Given the description of an element on the screen output the (x, y) to click on. 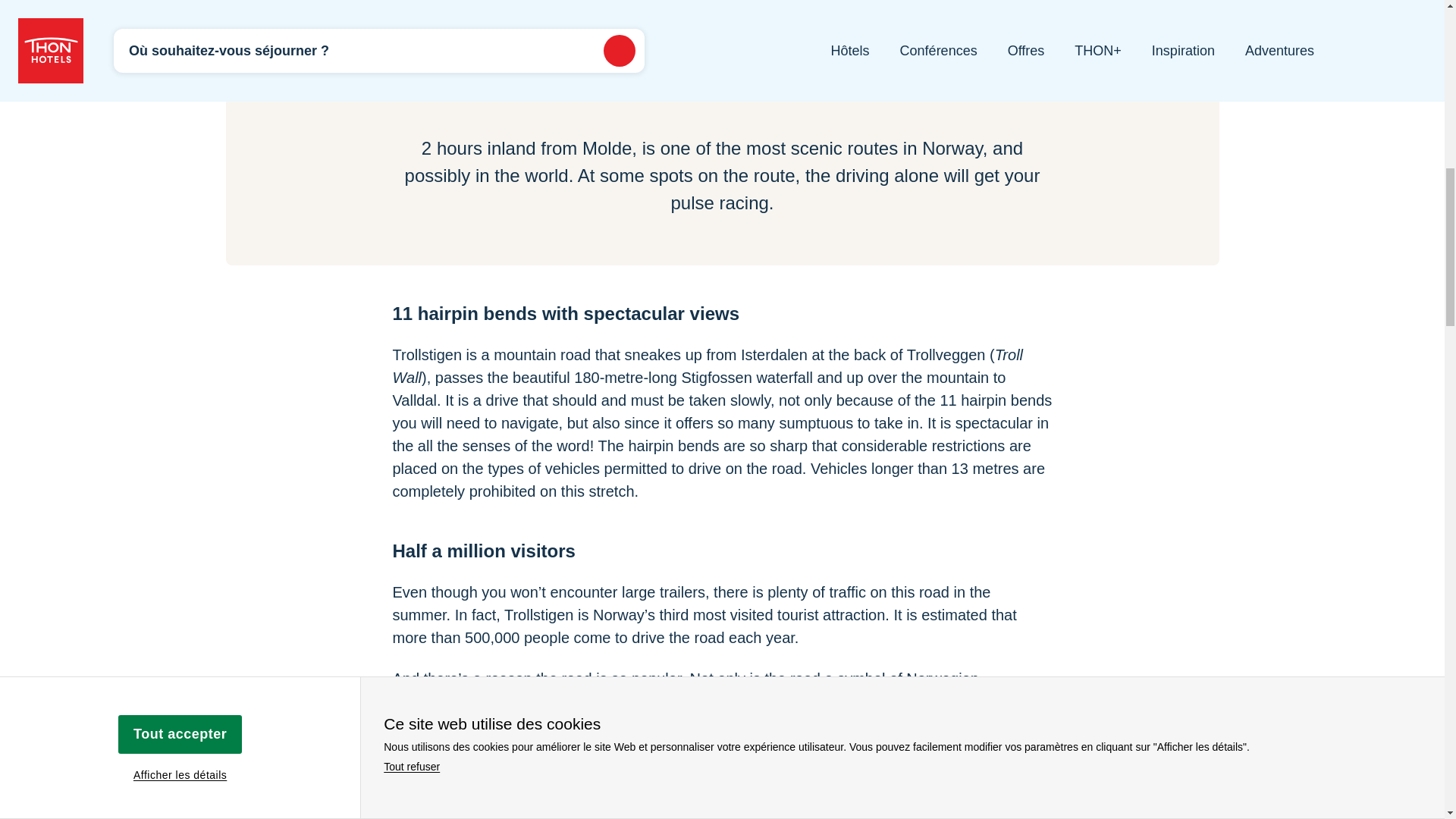
.AspNetCore.OpenIdConnect.Noncexxx (1157, 179)
15 minutes (984, 136)
me.thonhotels.no (1331, 179)
Session (984, 92)
Prend en charge les fonctions techniques du site. (636, 136)
EN SAVOIR PLUS SUR LES COOKIES (270, 27)
.me.thonhotels.no (1331, 92)
15 minutes (984, 179)
Microsoft Azure (462, 92)
me.thonhotels.no (1331, 136)
Cookie Information (462, 229)
ARRAffinity (1157, 92)
Requis pour que le site Web fonctionne correctement. (636, 92)
.AspNetCore.Correlationxxx (1157, 136)
Prend en charge les fonctions techniques du site. (636, 229)
